Given the description of an element on the screen output the (x, y) to click on. 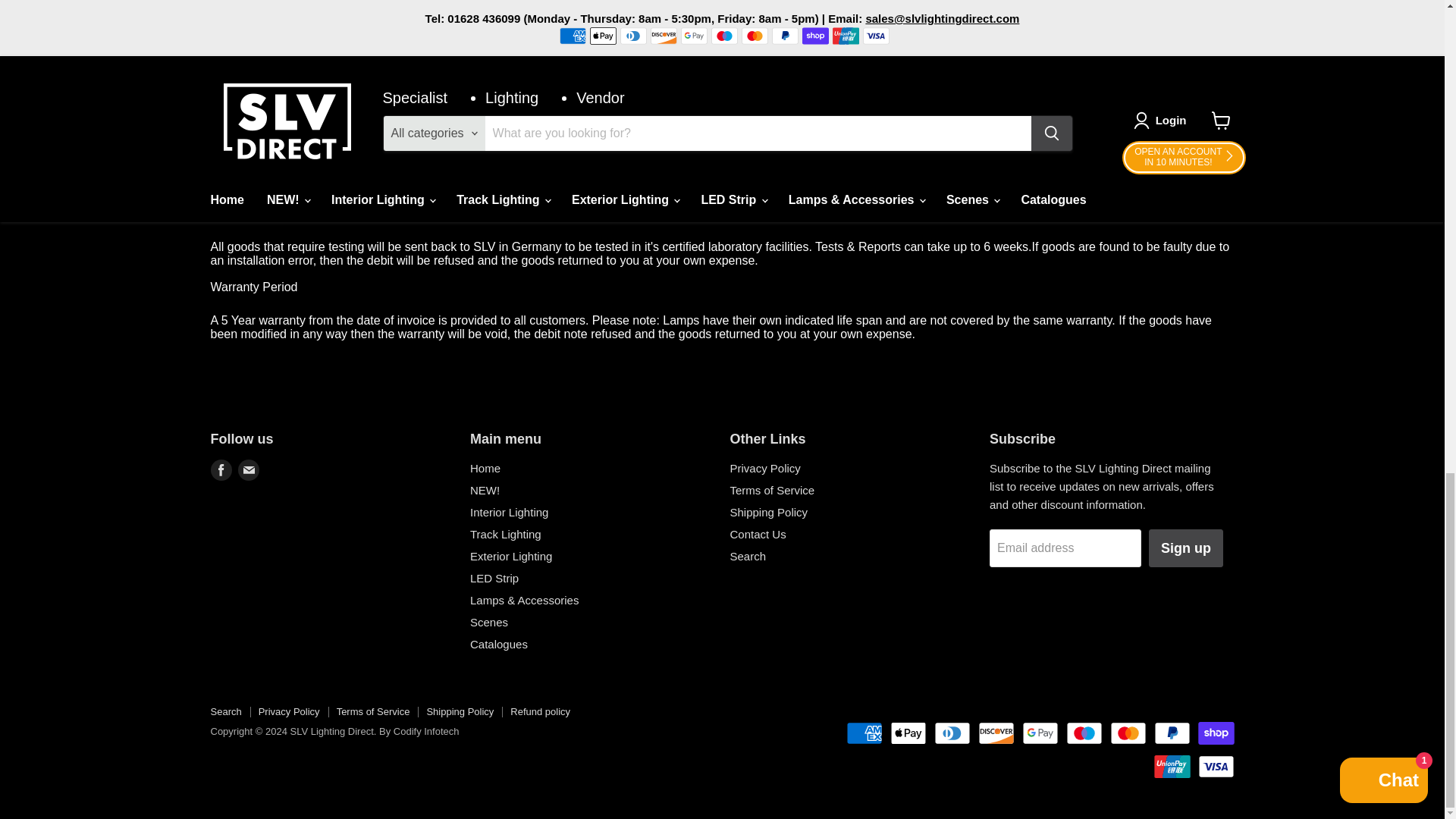
Email (248, 469)
Facebook (221, 469)
